Given the description of an element on the screen output the (x, y) to click on. 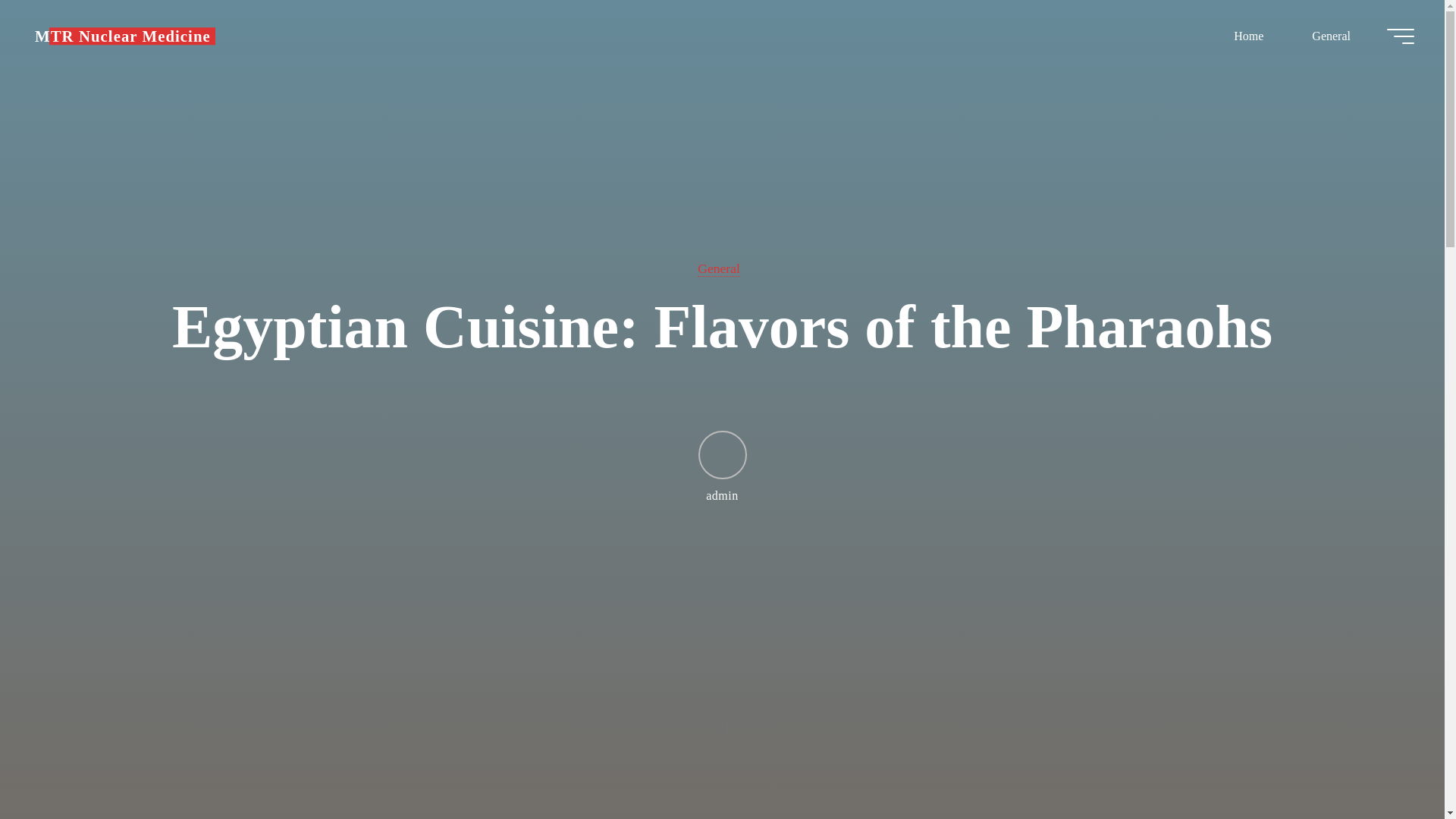
Read more (721, 724)
General (1330, 35)
General (718, 268)
MTR Nuclear Medicine (122, 36)
Home (1248, 35)
Blog (122, 36)
